Given the description of an element on the screen output the (x, y) to click on. 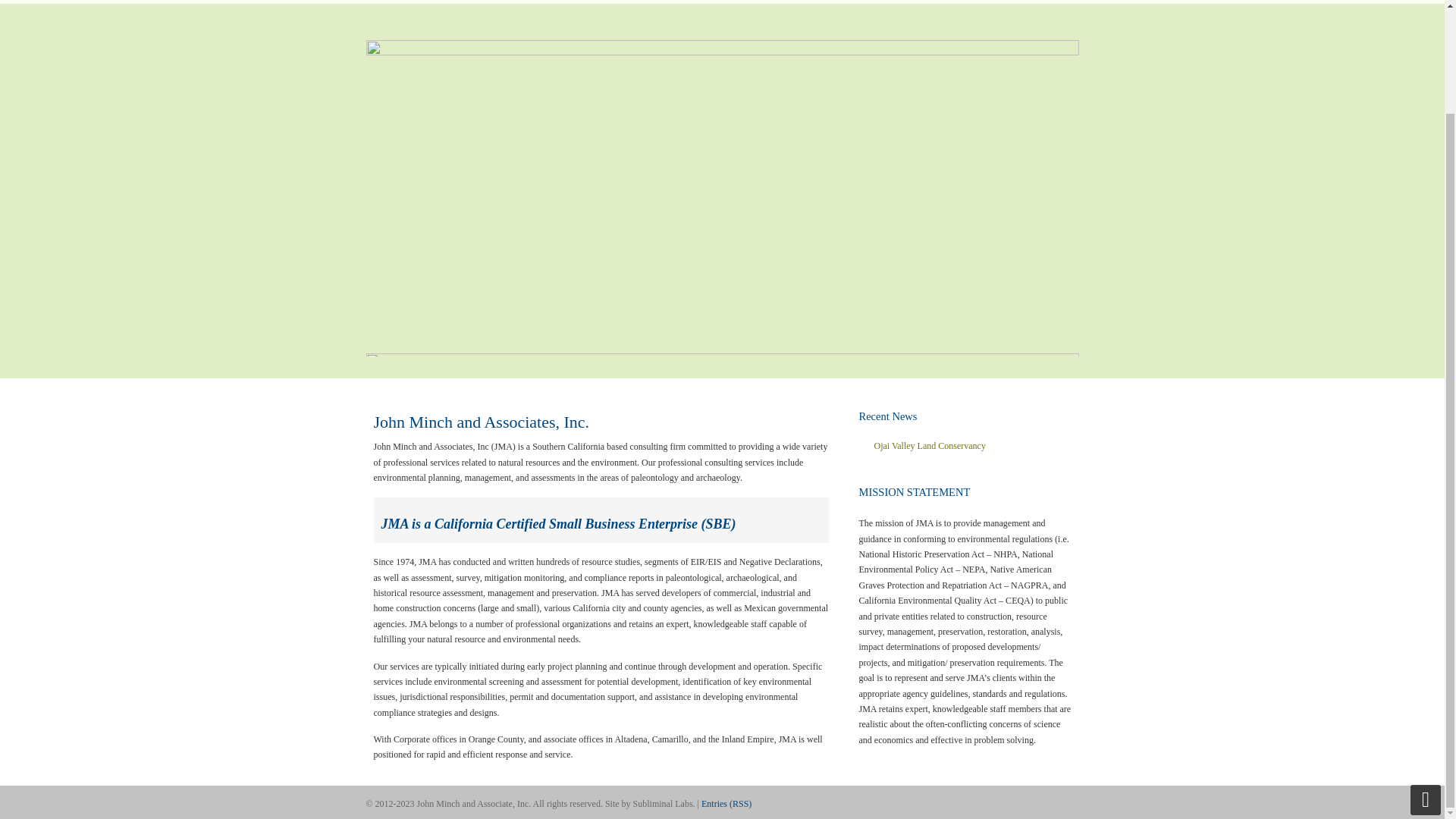
Play (1057, 365)
SERVICES (781, 2)
Play (1057, 365)
CONTACT (1046, 2)
Pause (1044, 365)
TEAM (919, 2)
HOME (711, 2)
Pause (1044, 365)
Ojai Valley Land Conservancy (964, 445)
CLIENTS (855, 2)
